Given the description of an element on the screen output the (x, y) to click on. 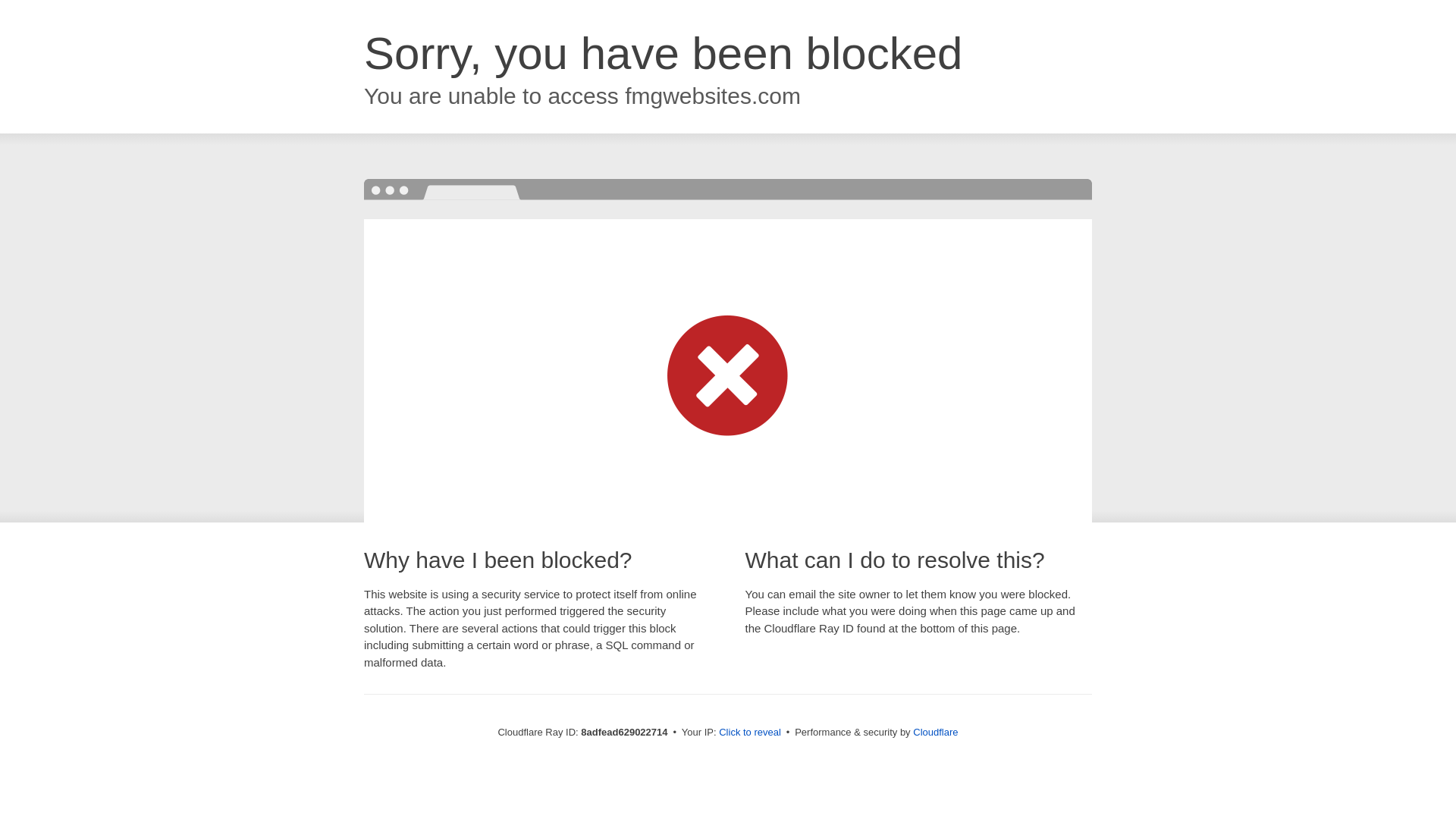
Click to reveal (749, 732)
Cloudflare (935, 731)
